Given the description of an element on the screen output the (x, y) to click on. 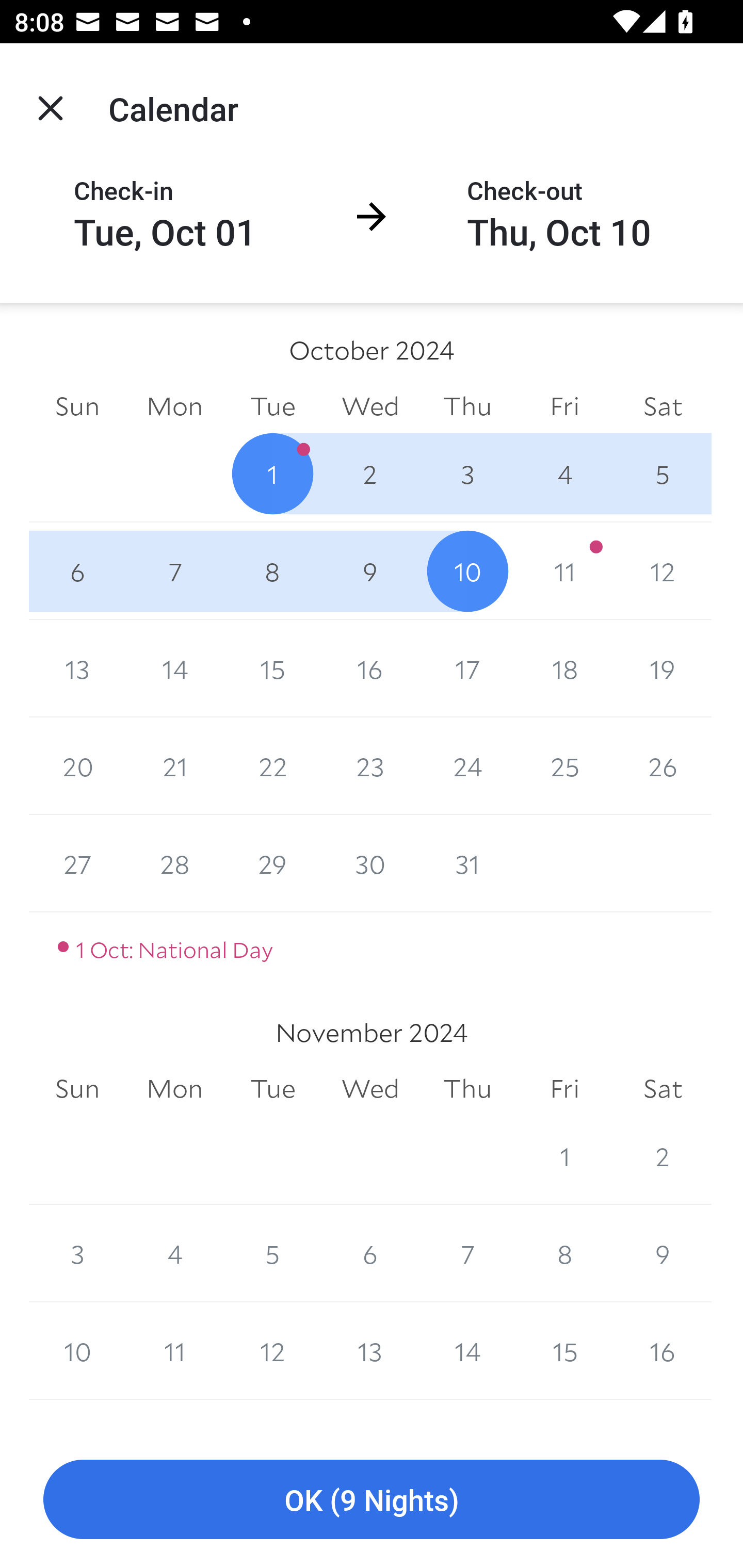
Sun (77, 405)
Mon (174, 405)
Tue (272, 405)
Wed (370, 405)
Thu (467, 405)
Fri (564, 405)
Sat (662, 405)
1 1 October 2024 (272, 473)
2 2 October 2024 (370, 473)
3 3 October 2024 (467, 473)
4 4 October 2024 (564, 473)
5 5 October 2024 (662, 473)
6 6 October 2024 (77, 570)
7 7 October 2024 (174, 570)
8 8 October 2024 (272, 570)
9 9 October 2024 (370, 570)
10 10 October 2024 (467, 570)
11 11 October 2024 (564, 570)
12 12 October 2024 (662, 570)
13 13 October 2024 (77, 668)
14 14 October 2024 (174, 668)
15 15 October 2024 (272, 668)
16 16 October 2024 (370, 668)
17 17 October 2024 (467, 668)
18 18 October 2024 (564, 668)
19 19 October 2024 (662, 668)
20 20 October 2024 (77, 766)
21 21 October 2024 (174, 766)
22 22 October 2024 (272, 766)
23 23 October 2024 (370, 766)
24 24 October 2024 (467, 766)
25 25 October 2024 (564, 766)
26 26 October 2024 (662, 766)
27 27 October 2024 (77, 863)
28 28 October 2024 (174, 863)
29 29 October 2024 (272, 863)
30 30 October 2024 (370, 863)
31 31 October 2024 (467, 863)
Sun (77, 1088)
Mon (174, 1088)
Tue (272, 1088)
Wed (370, 1088)
Thu (467, 1088)
Fri (564, 1088)
Sat (662, 1088)
1 1 November 2024 (564, 1155)
2 2 November 2024 (662, 1155)
3 3 November 2024 (77, 1253)
4 4 November 2024 (174, 1253)
5 5 November 2024 (272, 1253)
6 6 November 2024 (370, 1253)
7 7 November 2024 (467, 1253)
8 8 November 2024 (564, 1253)
9 9 November 2024 (662, 1253)
10 10 November 2024 (77, 1351)
11 11 November 2024 (174, 1351)
12 12 November 2024 (272, 1351)
13 13 November 2024 (370, 1351)
14 14 November 2024 (467, 1351)
15 15 November 2024 (564, 1351)
16 16 November 2024 (662, 1351)
OK (9 Nights) (371, 1499)
